Given the description of an element on the screen output the (x, y) to click on. 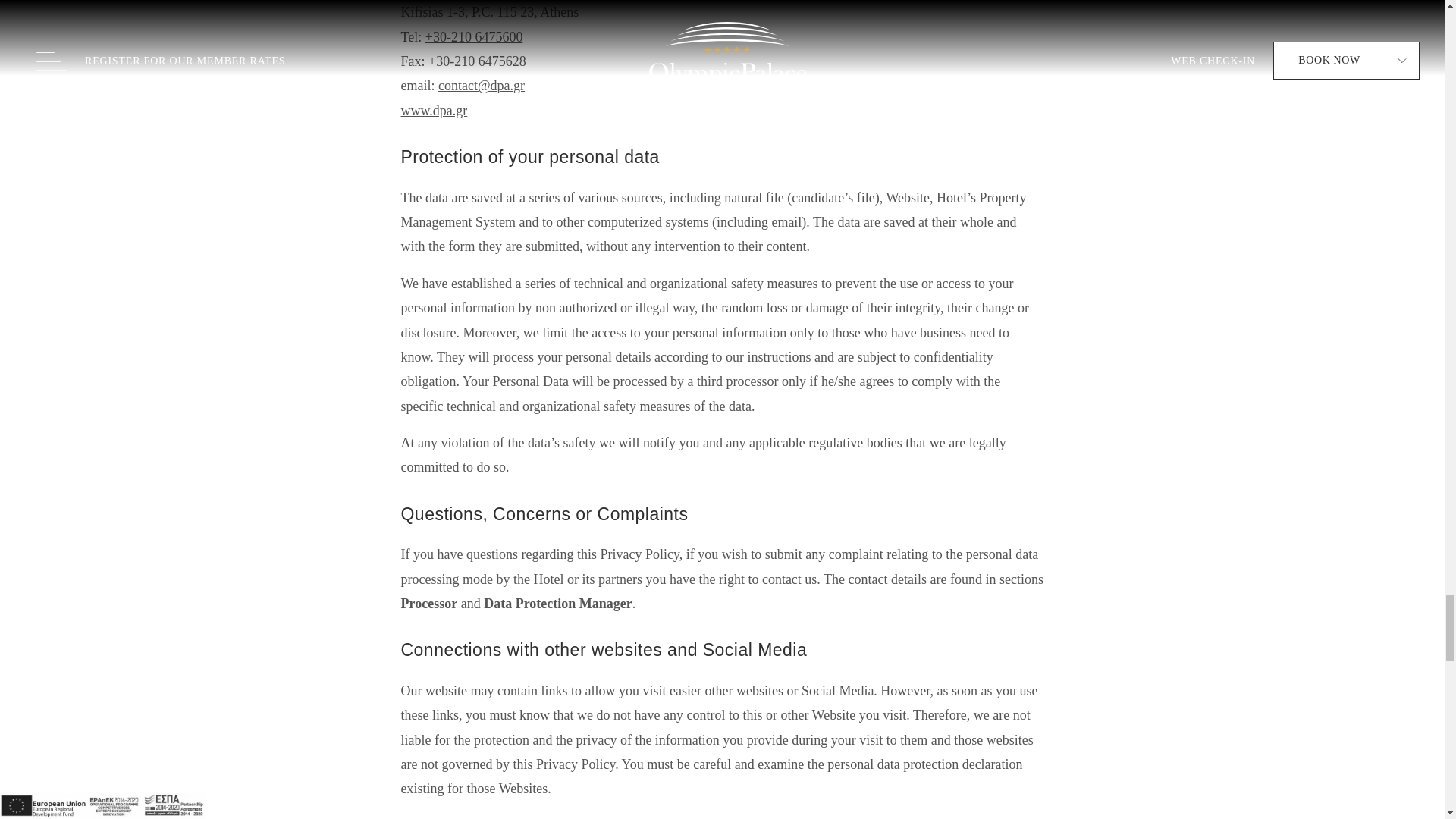
www.dpa.gr (433, 110)
